Given the description of an element on the screen output the (x, y) to click on. 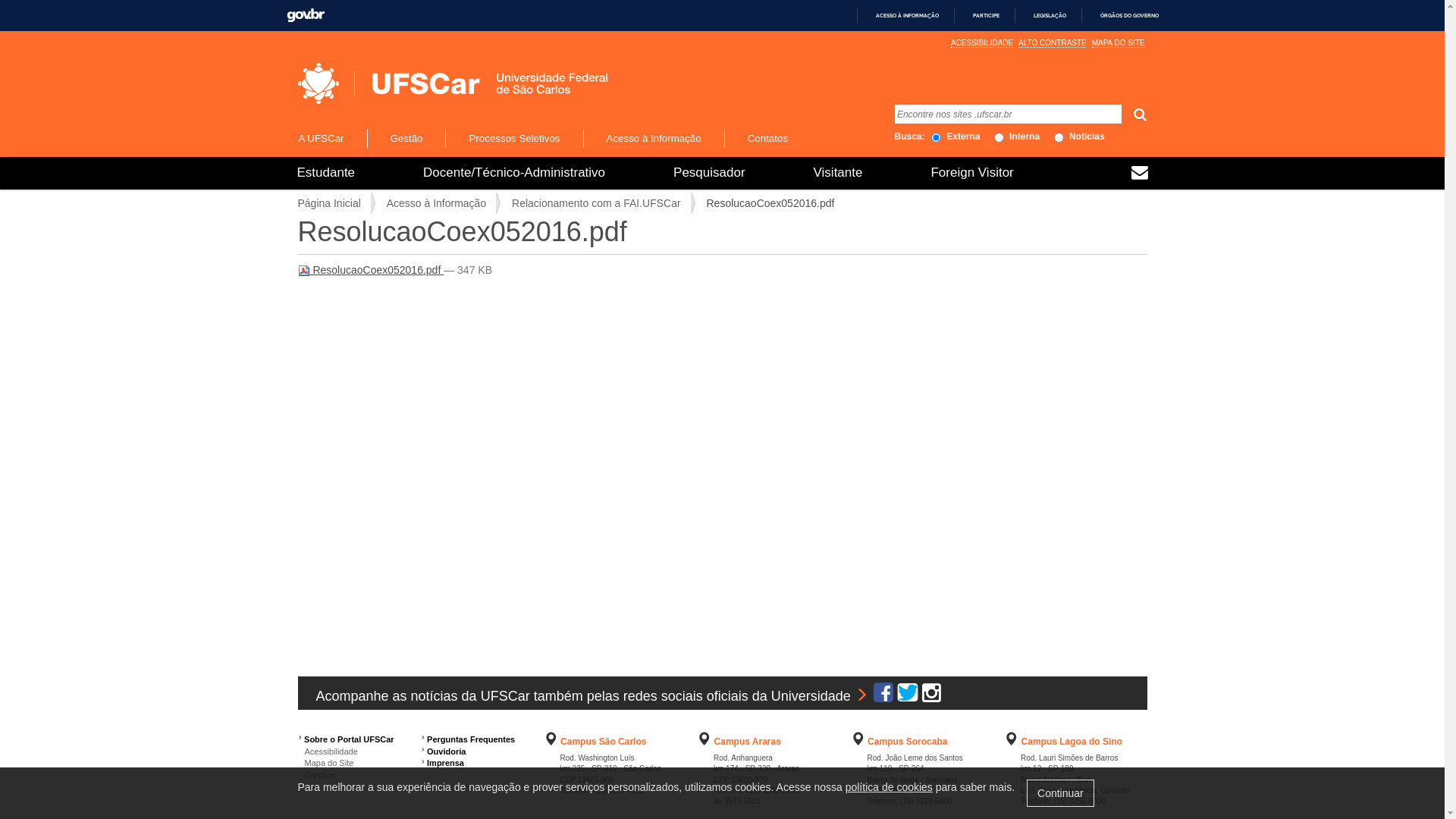
Visitante Element type: text (838, 172)
Imprensa Element type: text (445, 762)
Perguntas Frequentes Element type: text (470, 738)
WEBmail Element type: hover (1139, 174)
Campus Araras Element type: text (747, 741)
ResolucaoCoex052016.pdf Element type: text (370, 269)
Estudante Element type: text (325, 172)
PARTICIPE Element type: text (979, 15)
UFSCar Element type: hover (451, 82)
Encontre nos sites .ufscar.br Element type: hover (1008, 113)
Facebook UFSCar Oficial Element type: hover (883, 695)
Contatos Element type: text (767, 137)
Relacionamento com a FAI.UFSCar Element type: text (595, 203)
Ouvidoria Element type: text (445, 751)
Twitter UFSCar Oficial Element type: hover (907, 695)
Processos Seletivos Element type: text (513, 137)
Foreign Visitor Element type: text (971, 172)
ACESSIBILIDADE Element type: text (981, 42)
GOVBR Element type: text (305, 14)
MAPA DO SITE Element type: text (1118, 42)
Consulte Element type: text (1114, 790)
Pesquisador Element type: text (709, 172)
ALTO CONTRASTE Element type: text (1052, 42)
Continuar Element type: text (1060, 793)
Mapa do Site Element type: text (325, 762)
Campus Lagoa do Sino Element type: text (1071, 741)
Acessibilidade Element type: text (327, 751)
A UFSCar Element type: text (330, 137)
Campus Sorocaba Element type: text (907, 741)
Instagram UFSCar Oficial Element type: hover (931, 695)
Universidade Federal de Sao Carlos Element type: hover (409, 82)
